Given the description of an element on the screen output the (x, y) to click on. 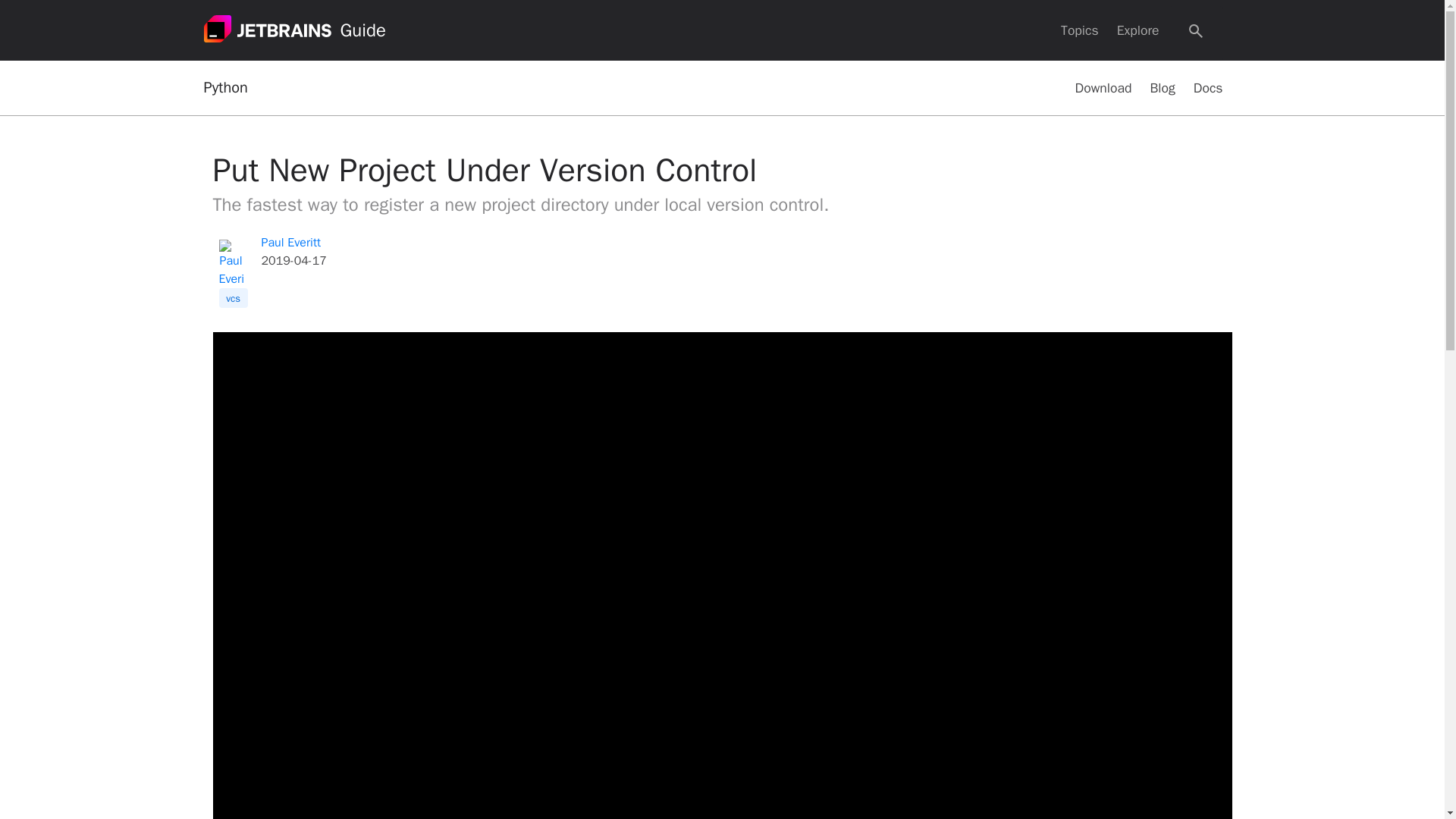
Download (1103, 87)
Guide (362, 30)
Python (225, 87)
Explore (1138, 30)
Topics (1079, 30)
vcs (232, 297)
Paul Everitt (290, 242)
